Given the description of an element on the screen output the (x, y) to click on. 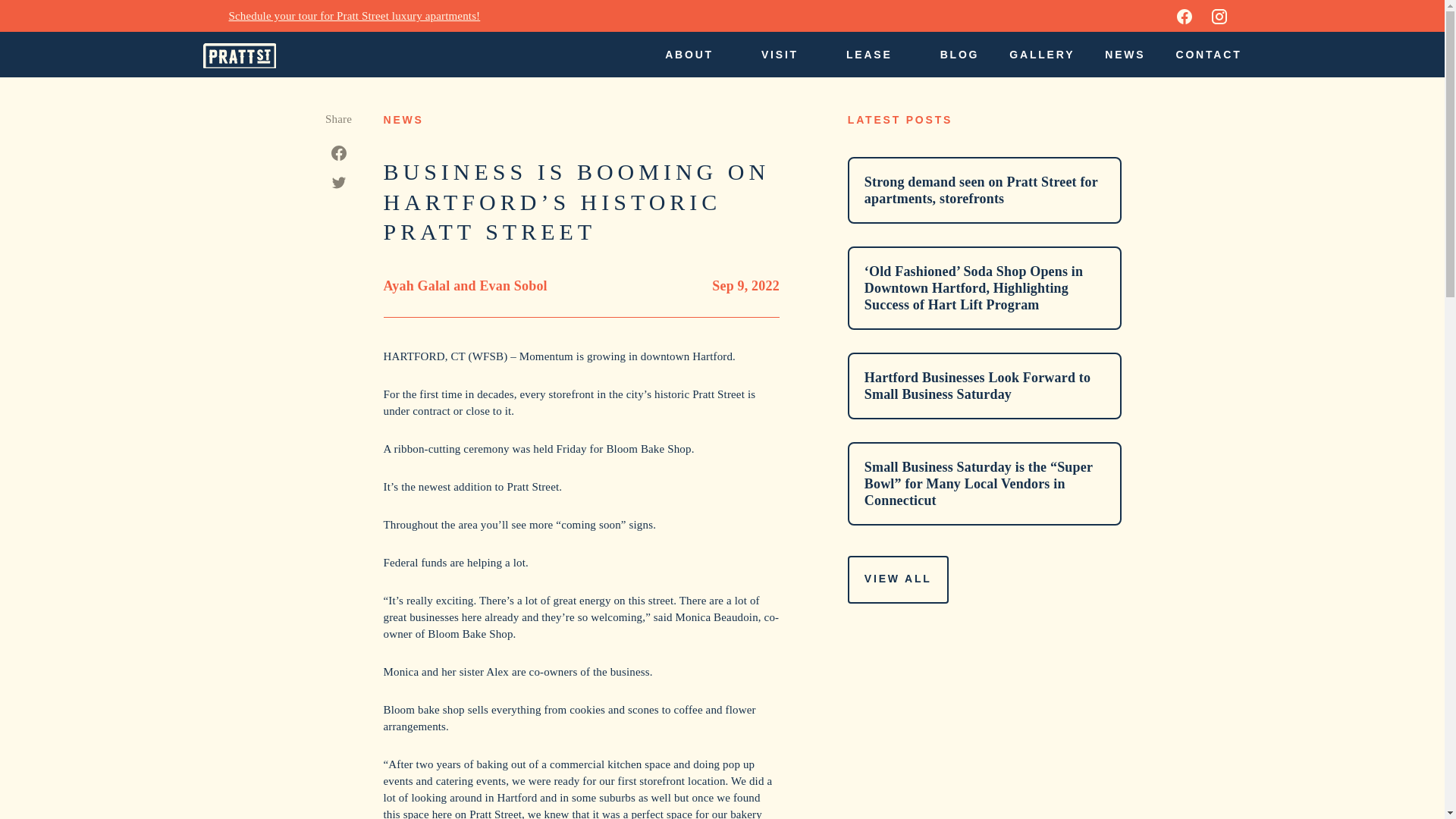
Hartford Businesses Look Forward to Small Business Saturday (984, 385)
GALLERY (1041, 53)
BLOG (960, 53)
ABOUT (698, 53)
CONTACT (1204, 53)
Schedule your tour for Pratt Street luxury apartments! (354, 15)
VIEW ALL (898, 579)
NEWS (1125, 53)
LEASE (877, 53)
